Given the description of an element on the screen output the (x, y) to click on. 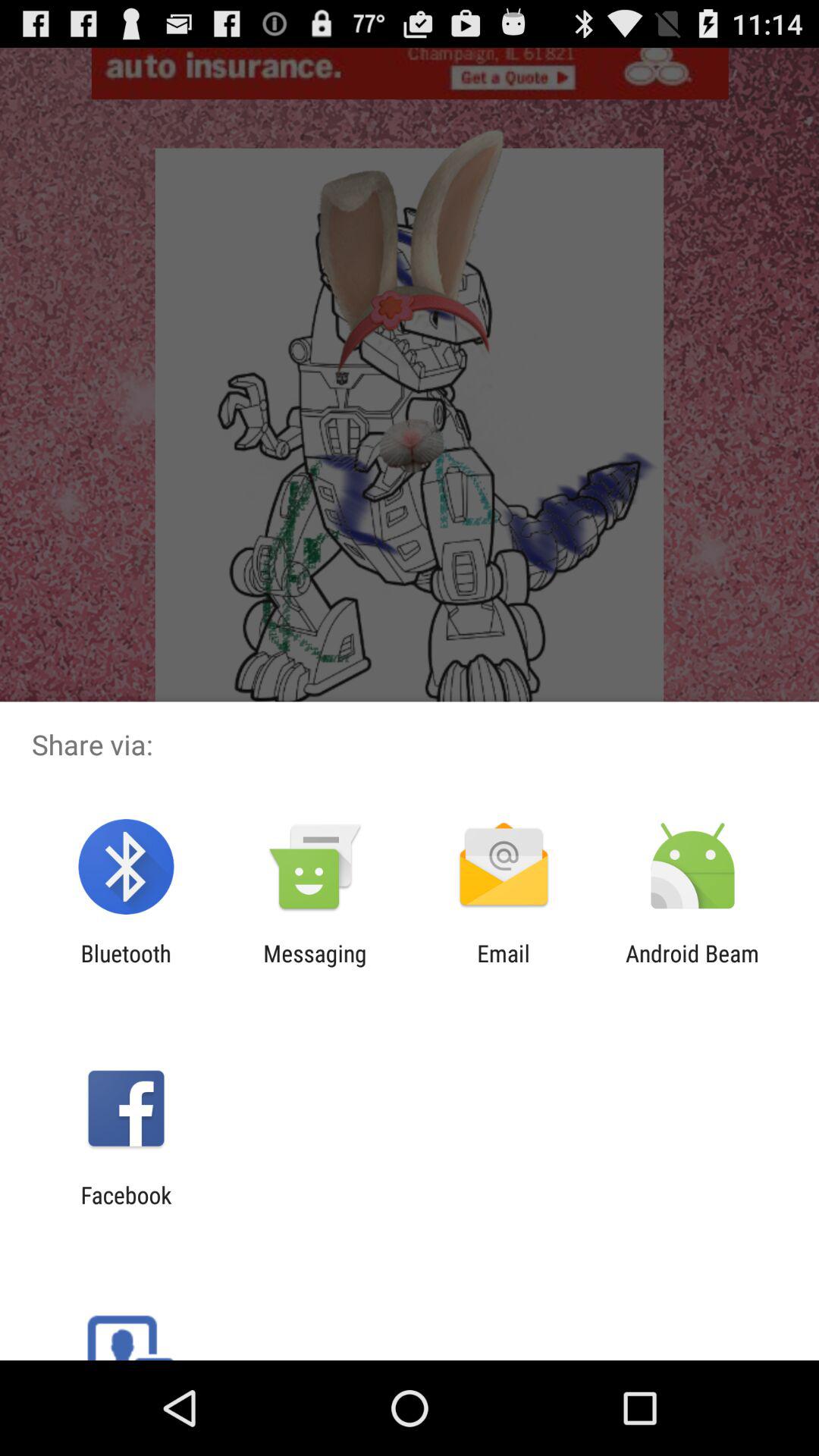
click app to the left of android beam (503, 966)
